Given the description of an element on the screen output the (x, y) to click on. 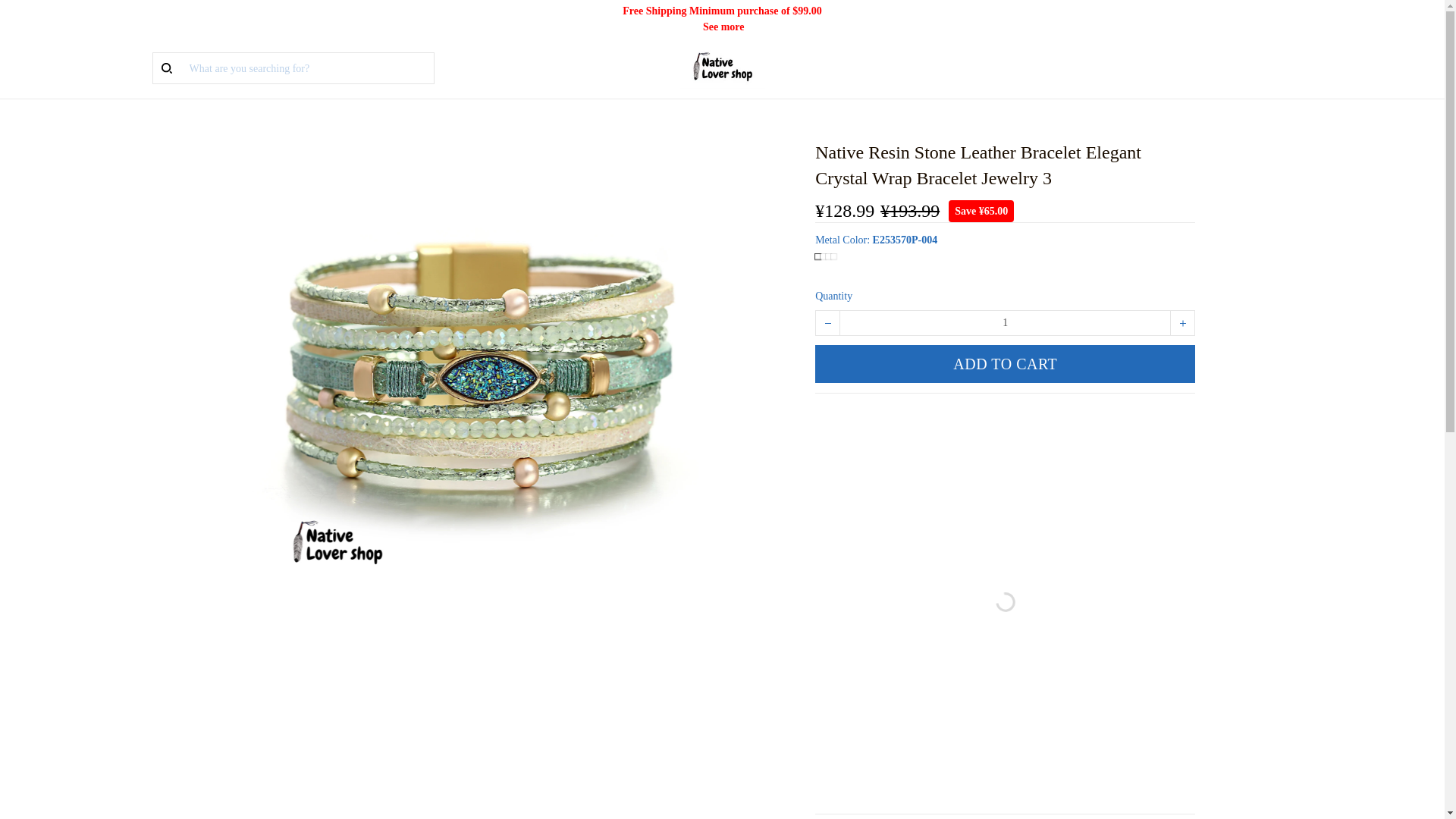
ADD TO CART (1005, 363)
See more (723, 26)
1 (1005, 322)
